Given the description of an element on the screen output the (x, y) to click on. 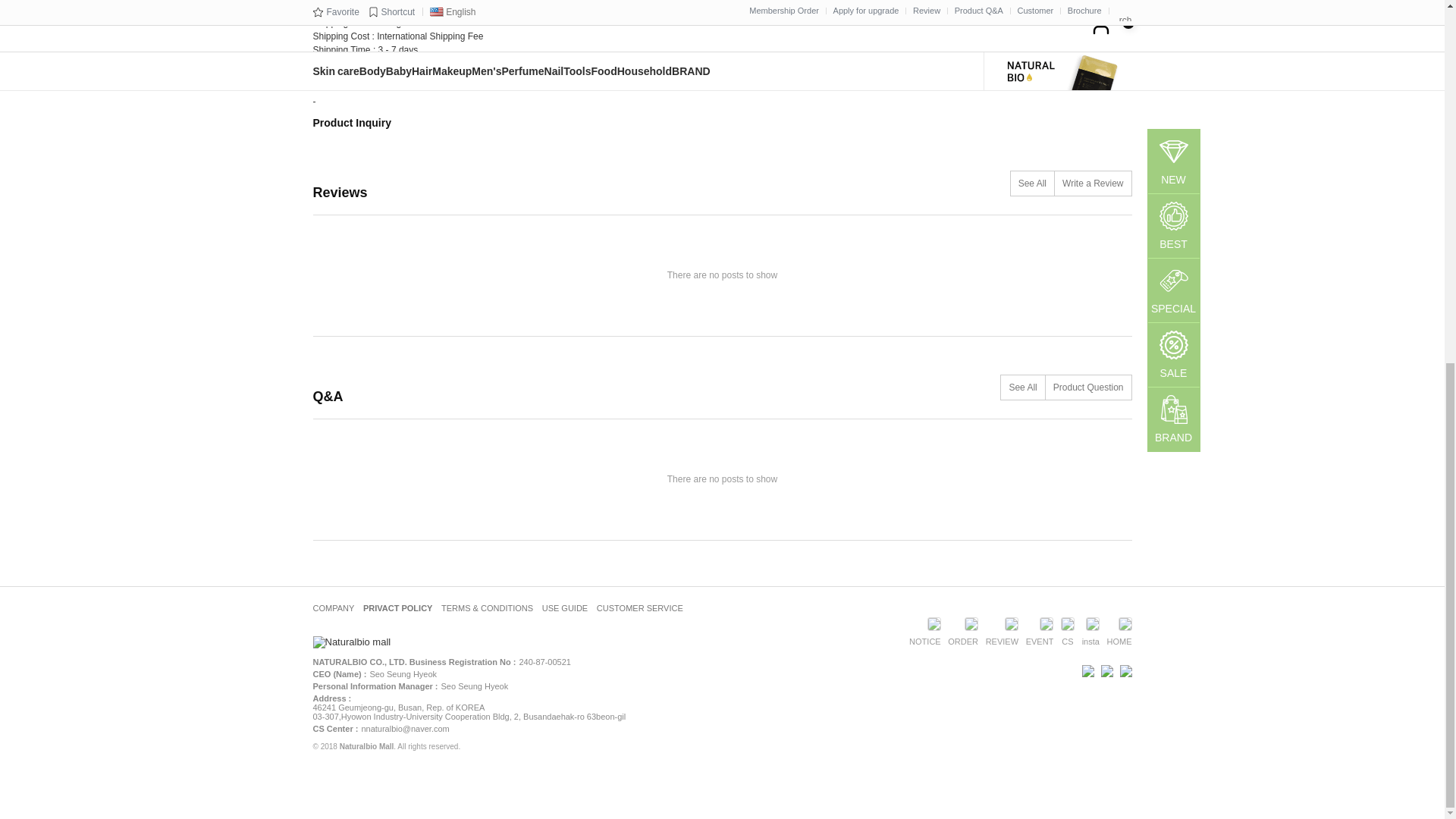
cafe24 (1086, 670)
DE2P (1124, 670)
logen logistics (1105, 670)
